Given the description of an element on the screen output the (x, y) to click on. 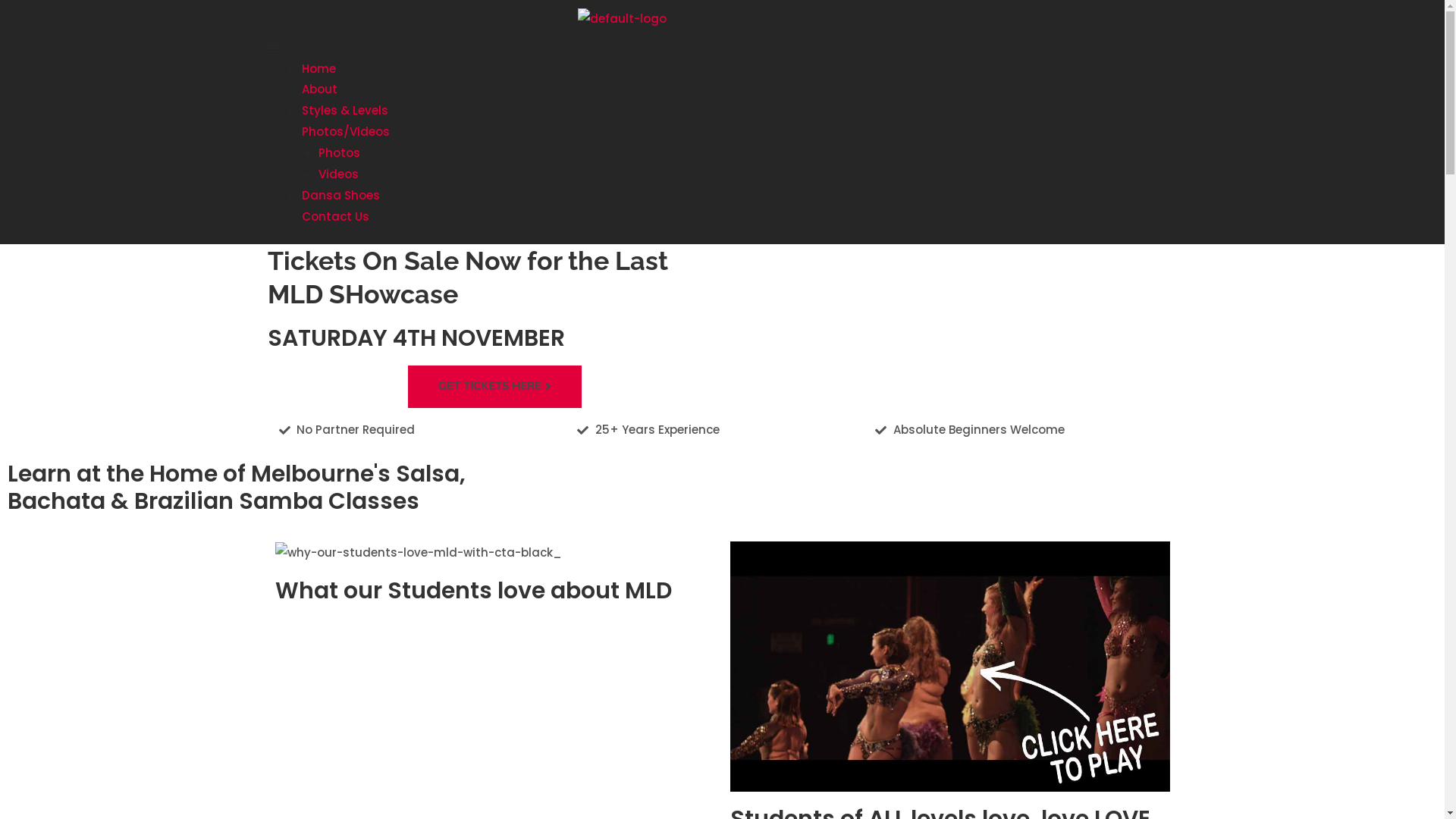
Photos Element type: text (339, 152)
GET TICKETS HERE Element type: text (494, 386)
Contact Us Element type: text (335, 216)
Styles & Levels Element type: text (344, 110)
Dansa Shoes Element type: text (340, 195)
Videos Element type: text (338, 174)
Photos/Videos Element type: text (345, 131)
Home Element type: text (318, 68)
About Element type: text (319, 89)
